Given the description of an element on the screen output the (x, y) to click on. 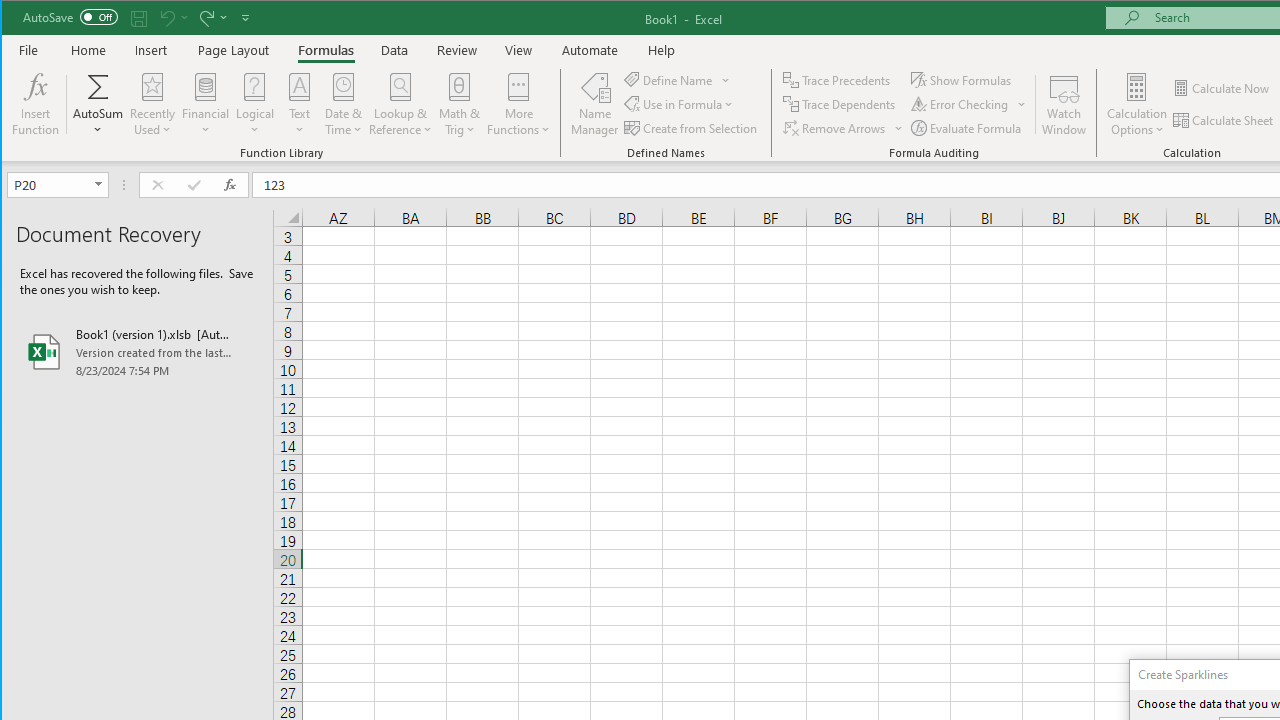
File Tab (29, 49)
Error Checking... (968, 103)
Define Name (677, 80)
Review (456, 50)
Create from Selection... (692, 127)
Book1 (version 1).xlsb  [AutoRecovered] (137, 352)
Evaluate Formula (967, 127)
Insert (151, 50)
Trace Precedents (838, 80)
Save (139, 17)
Error Checking... (961, 103)
Insert Function... (35, 104)
